Given the description of an element on the screen output the (x, y) to click on. 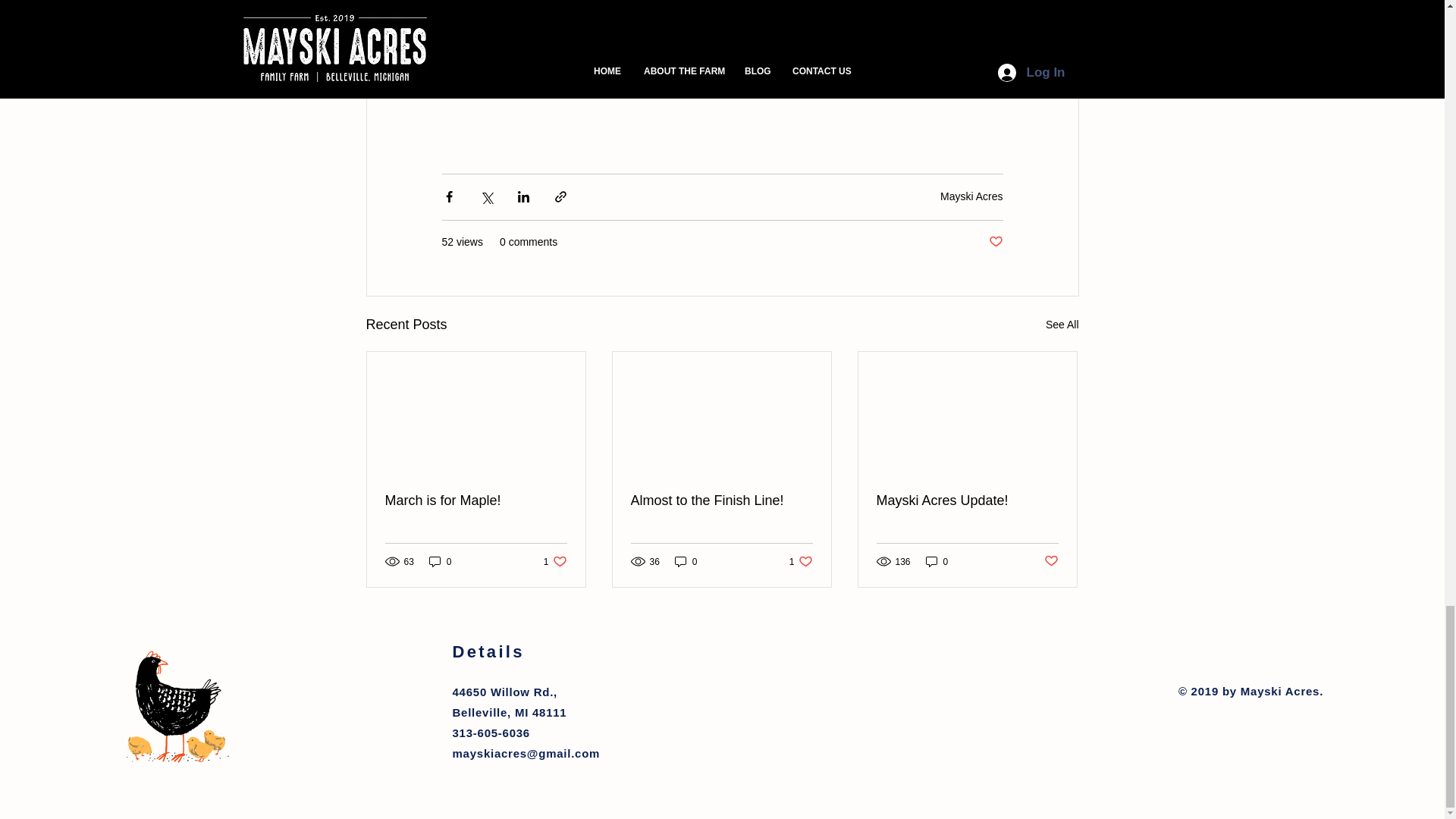
Mayski Acres Update! (967, 500)
Mayski Acres (971, 196)
Almost to the Finish Line! (721, 500)
See All (1061, 324)
Post not marked as liked (1050, 561)
Post not marked as liked (555, 561)
0 (995, 242)
0 (937, 561)
0 (800, 561)
March is for Maple! (685, 561)
